Given the description of an element on the screen output the (x, y) to click on. 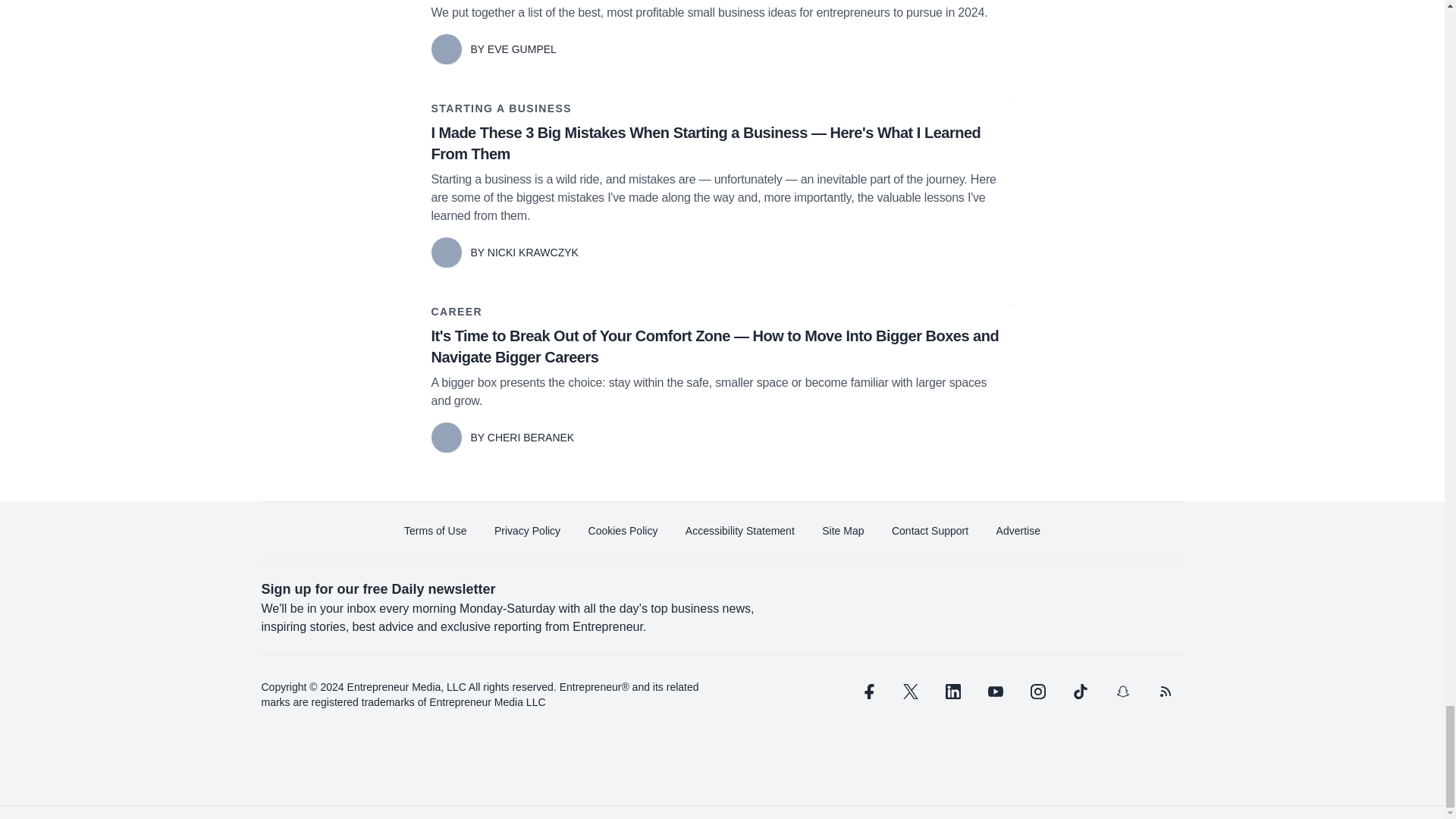
instagram (1037, 691)
youtube (994, 691)
linkedin (952, 691)
tiktok (1079, 691)
snapchat (1121, 691)
facebook (866, 691)
twitter (909, 691)
